Given the description of an element on the screen output the (x, y) to click on. 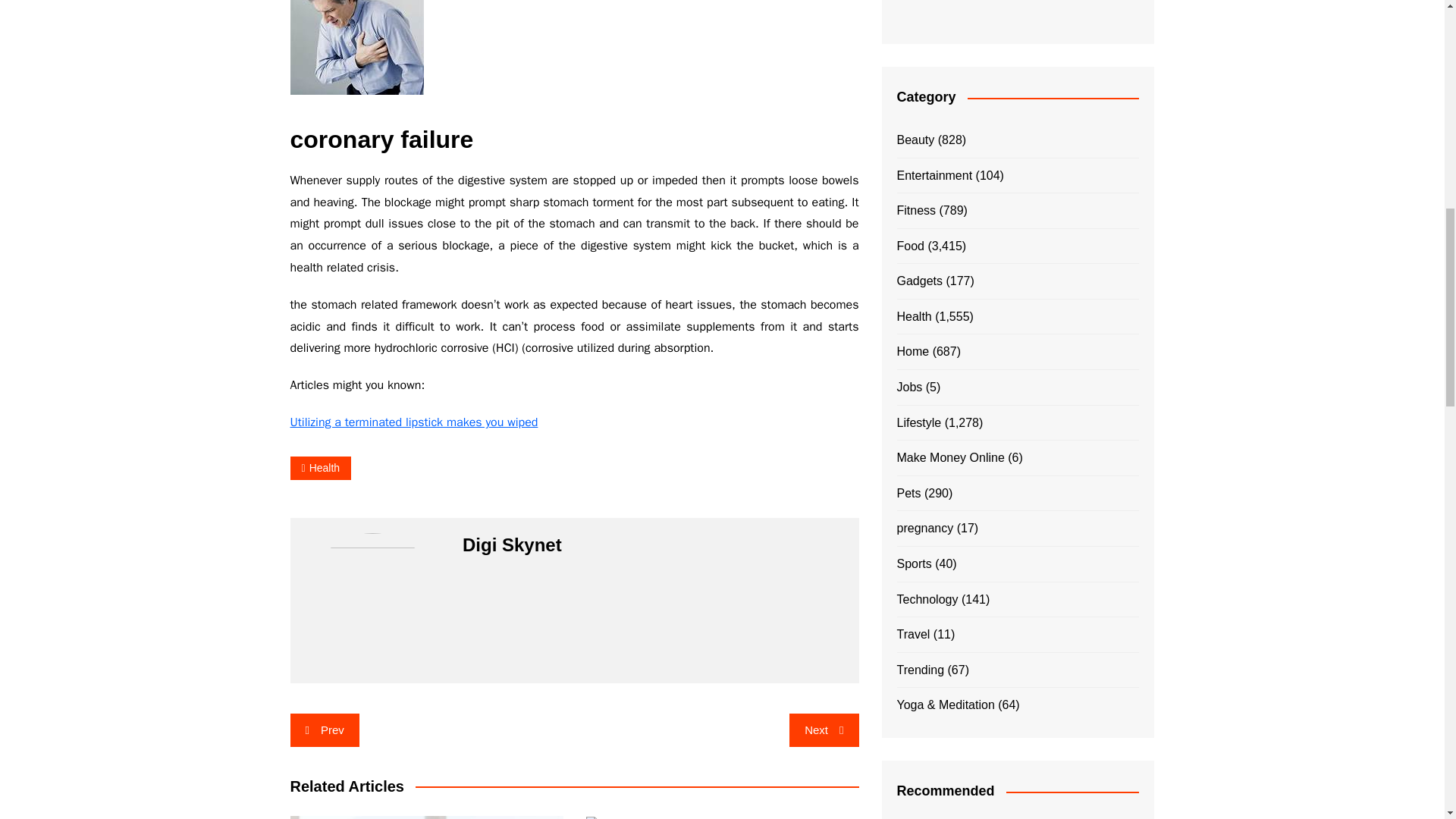
Utilizing a terminated lipstick makes you wiped (413, 421)
Next (824, 729)
Indication of coronary failure connected to stomach (356, 47)
Health (319, 467)
Prev (323, 729)
10 Signs Prior to telling Your Pregnancy (425, 817)
